Given the description of an element on the screen output the (x, y) to click on. 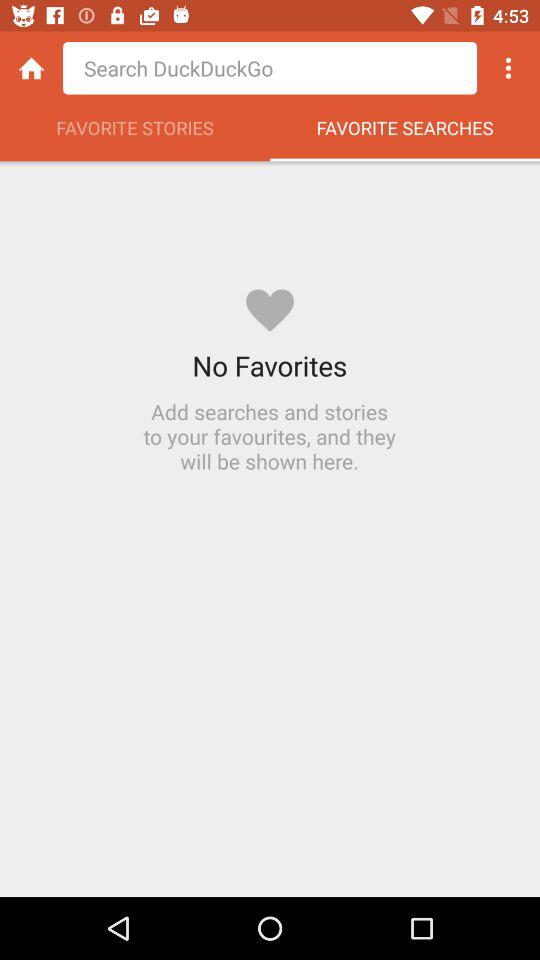
select the icon above favorite stories icon (31, 68)
